Given the description of an element on the screen output the (x, y) to click on. 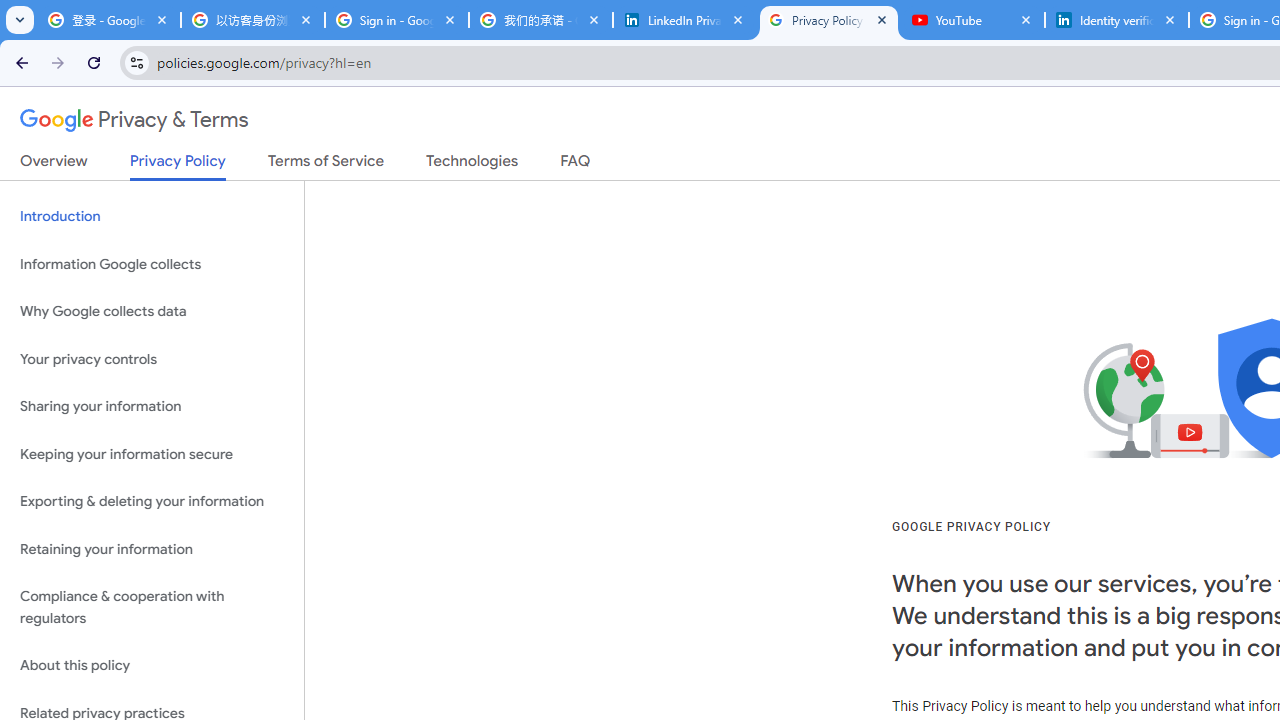
LinkedIn Privacy Policy (684, 20)
